Given the description of an element on the screen output the (x, y) to click on. 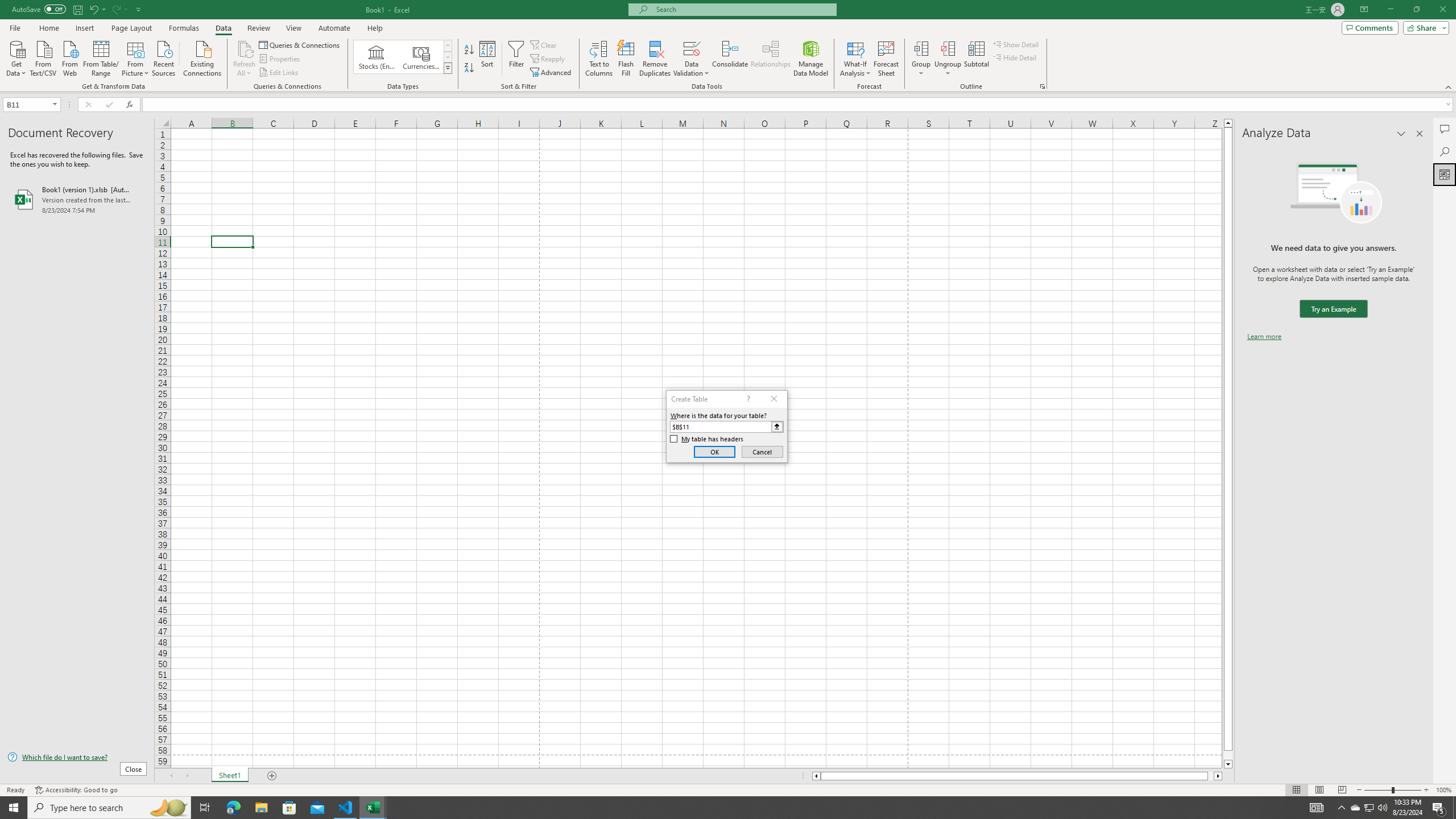
Advanced... (551, 72)
Queries & Connections (300, 44)
